Given the description of an element on the screen output the (x, y) to click on. 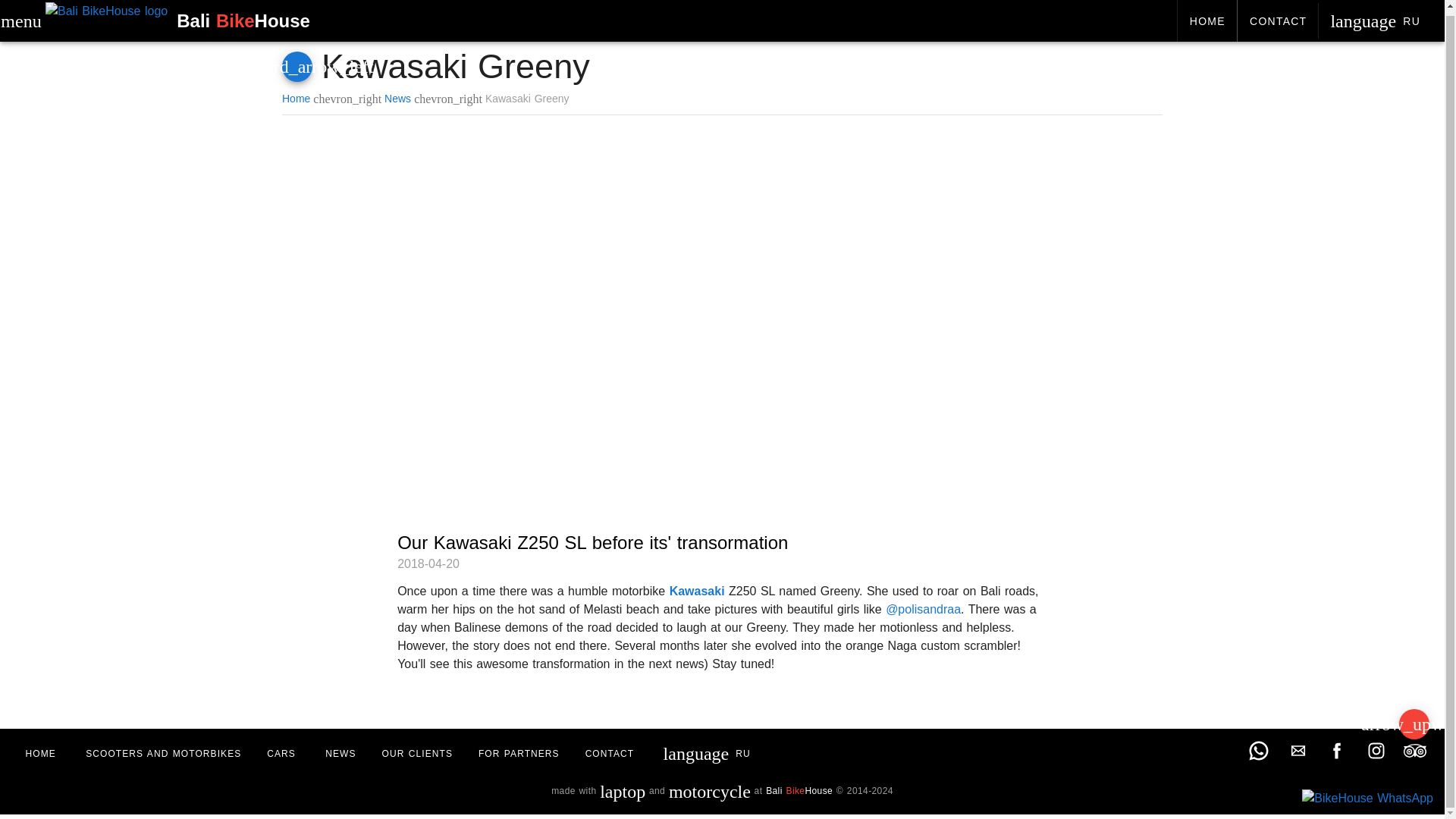
menu (20, 17)
BikeHouse Instagram (1376, 750)
BikeHouse WhatsApp (1366, 793)
BikeHouse TripAdvisor (1414, 750)
BikeHouse Email (1297, 750)
Bali BikeHouse (170, 15)
CONTACT (1374, 18)
BikeHouse (1277, 18)
Rent Kawasaki motorbikes in Bali (106, 17)
